Given the description of an element on the screen output the (x, y) to click on. 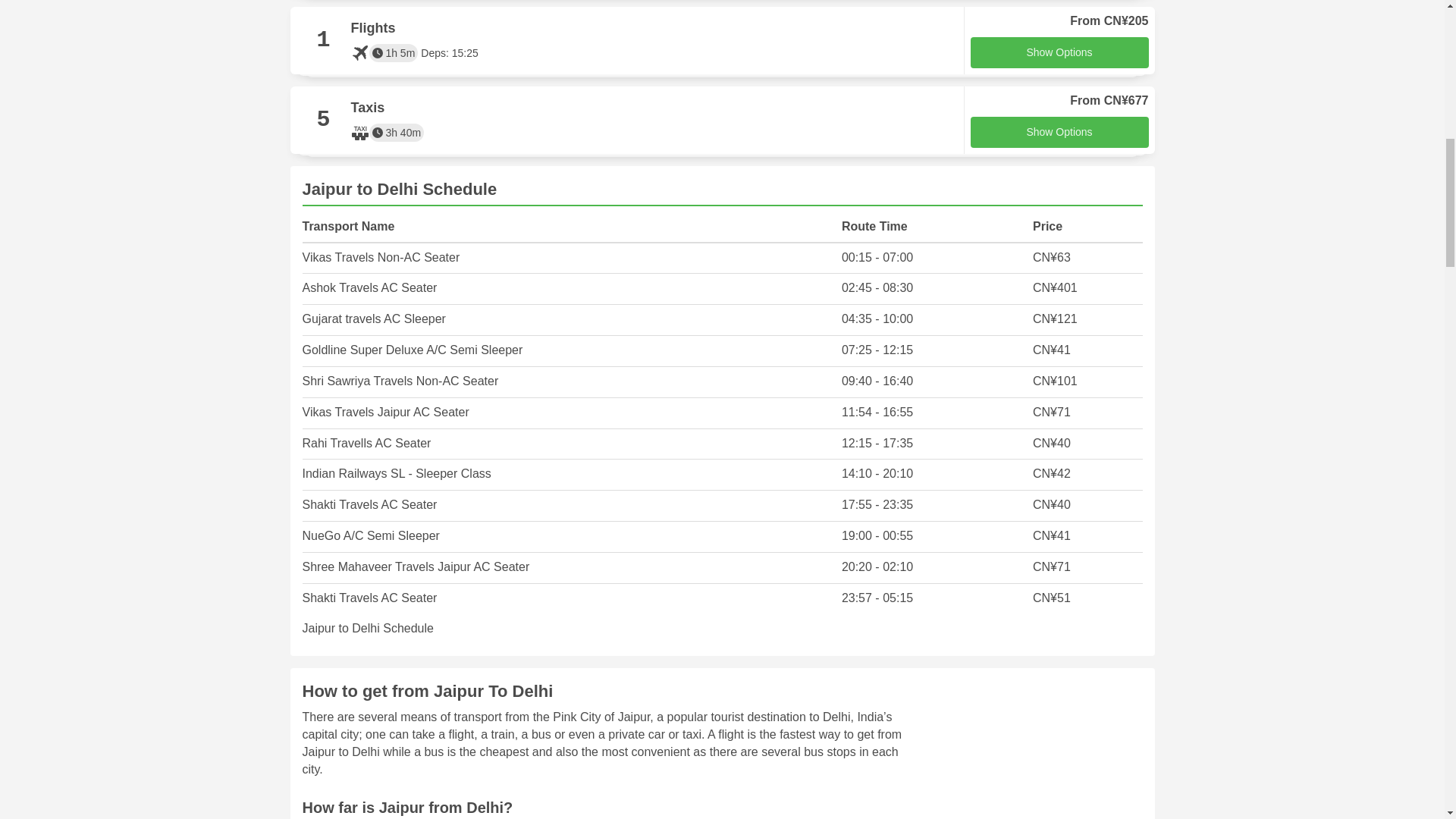
Show Options (1059, 51)
Show Options (1059, 132)
